Given the description of an element on the screen output the (x, y) to click on. 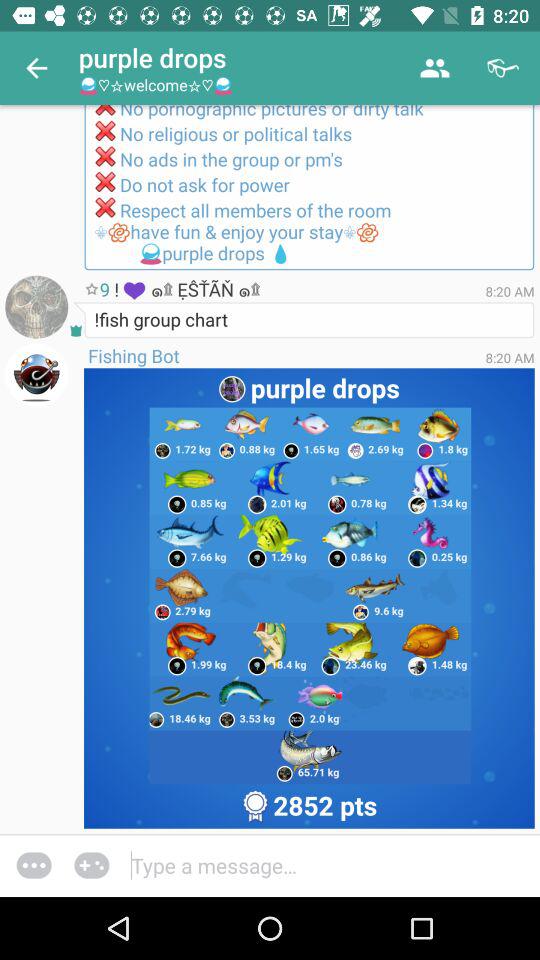
open item to the left of the purple drops (36, 68)
